Given the description of an element on the screen output the (x, y) to click on. 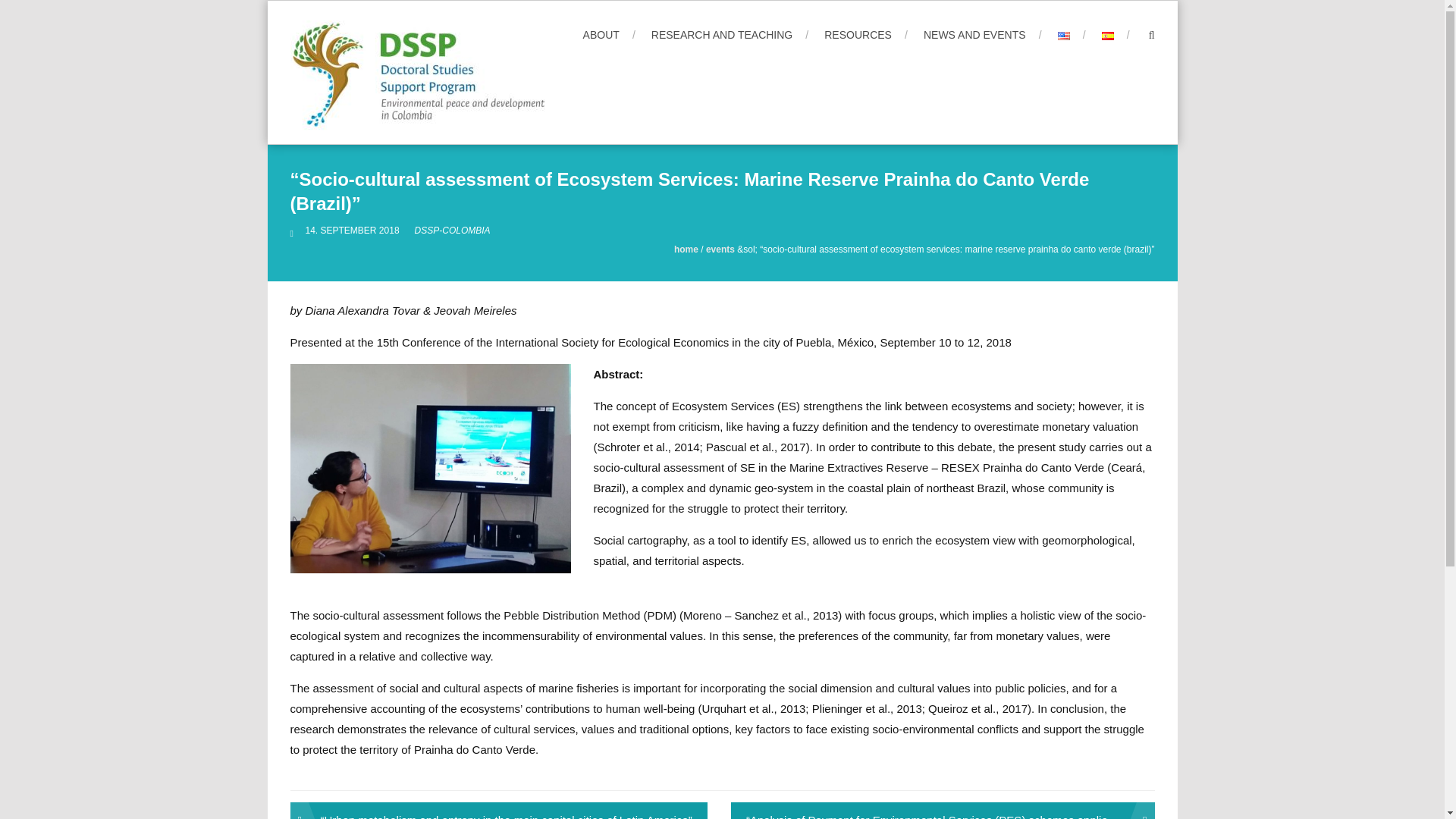
NEWS AND EVENTS (982, 35)
RESEARCH AND TEACHING (729, 35)
ABOUT (608, 35)
RESOURCES (865, 35)
